Given the description of an element on the screen output the (x, y) to click on. 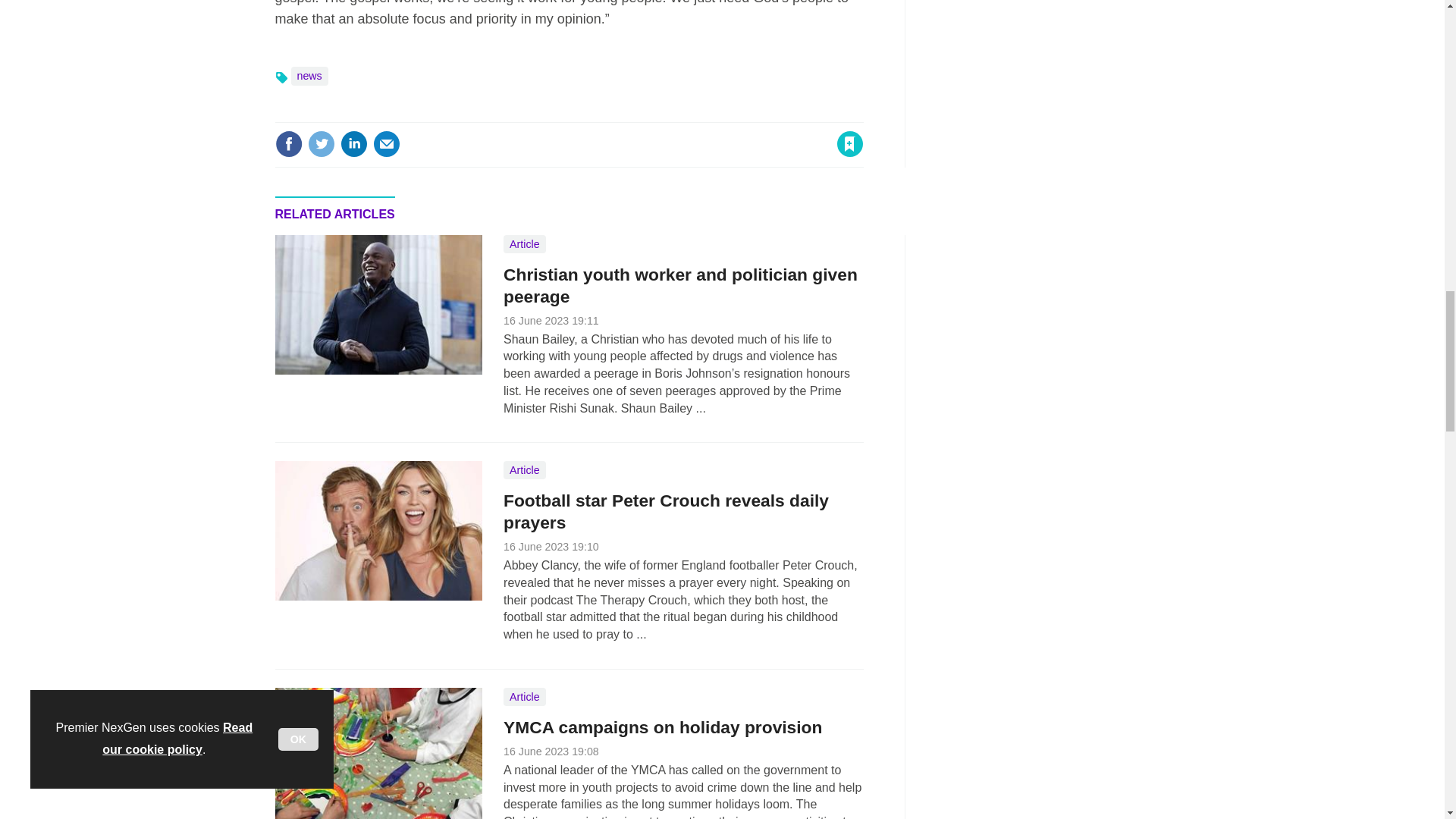
Email this article (386, 144)
Share this on Twitter (320, 144)
Share this on Facebook (288, 144)
Share this on Linked in (352, 144)
